Given the description of an element on the screen output the (x, y) to click on. 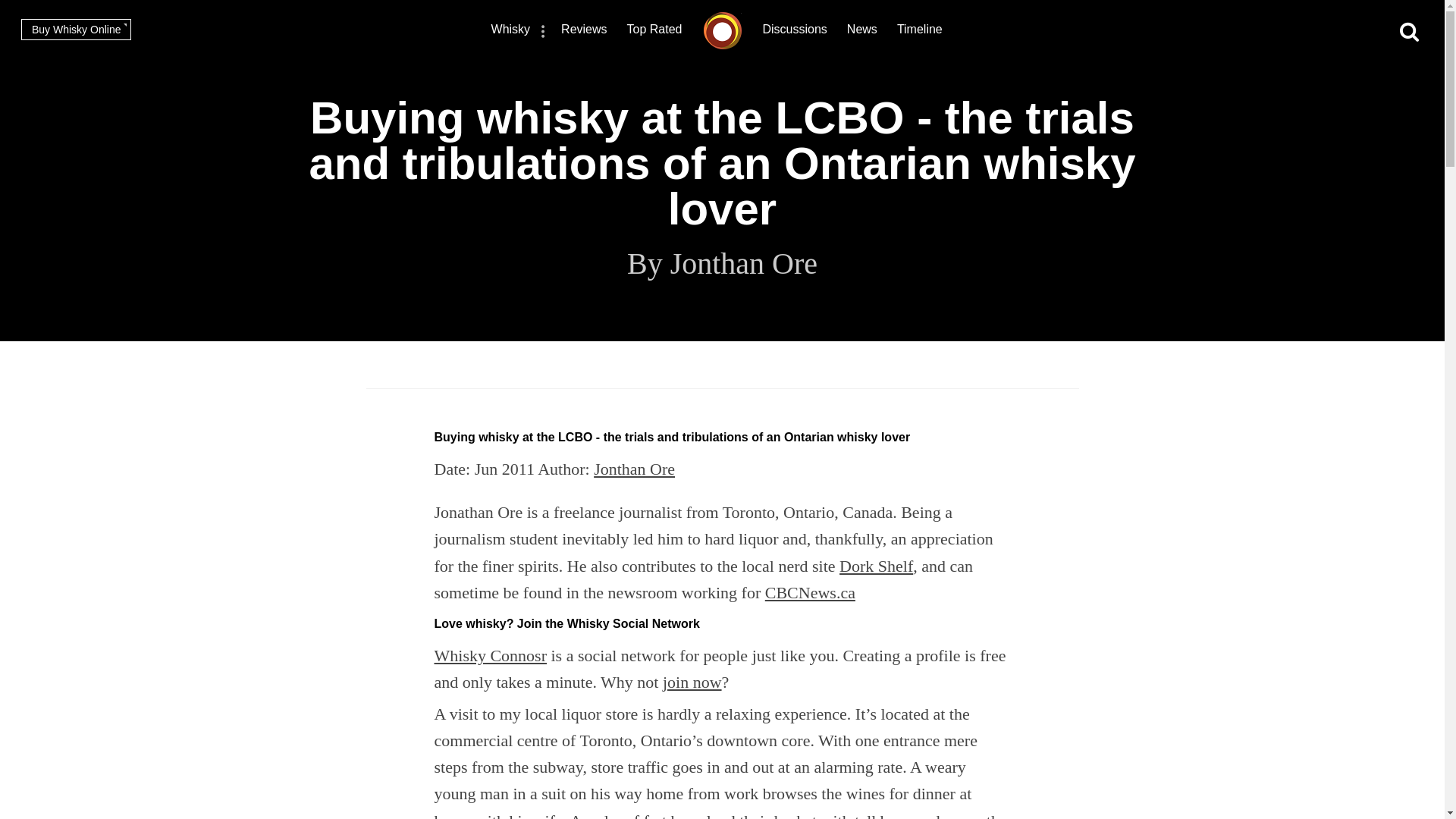
Whisky Connosr (490, 655)
Whisky discussions (794, 31)
Search this site (1408, 31)
Discussions (794, 31)
Whisky (511, 31)
Top Rated (654, 31)
News (862, 31)
Recent actvity timeline (919, 31)
join now (692, 681)
Jonthan Ore (634, 468)
CONNOSR. (721, 30)
Top rated whisky (654, 31)
Latest whisky news (862, 31)
Reviews (583, 31)
Timeline (919, 31)
